Given the description of an element on the screen output the (x, y) to click on. 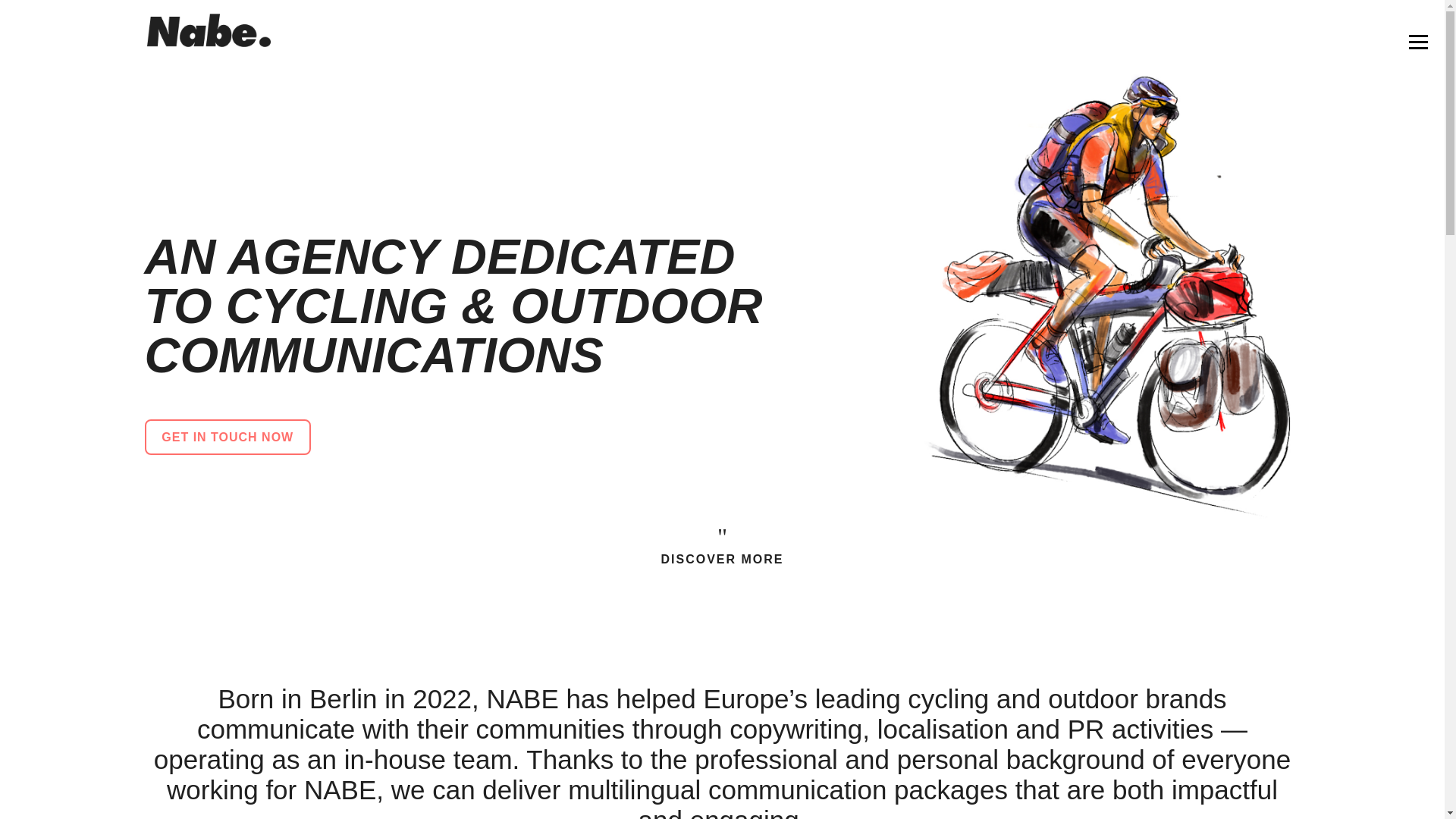
GET IN TOUCH NOW (227, 437)
